Given the description of an element on the screen output the (x, y) to click on. 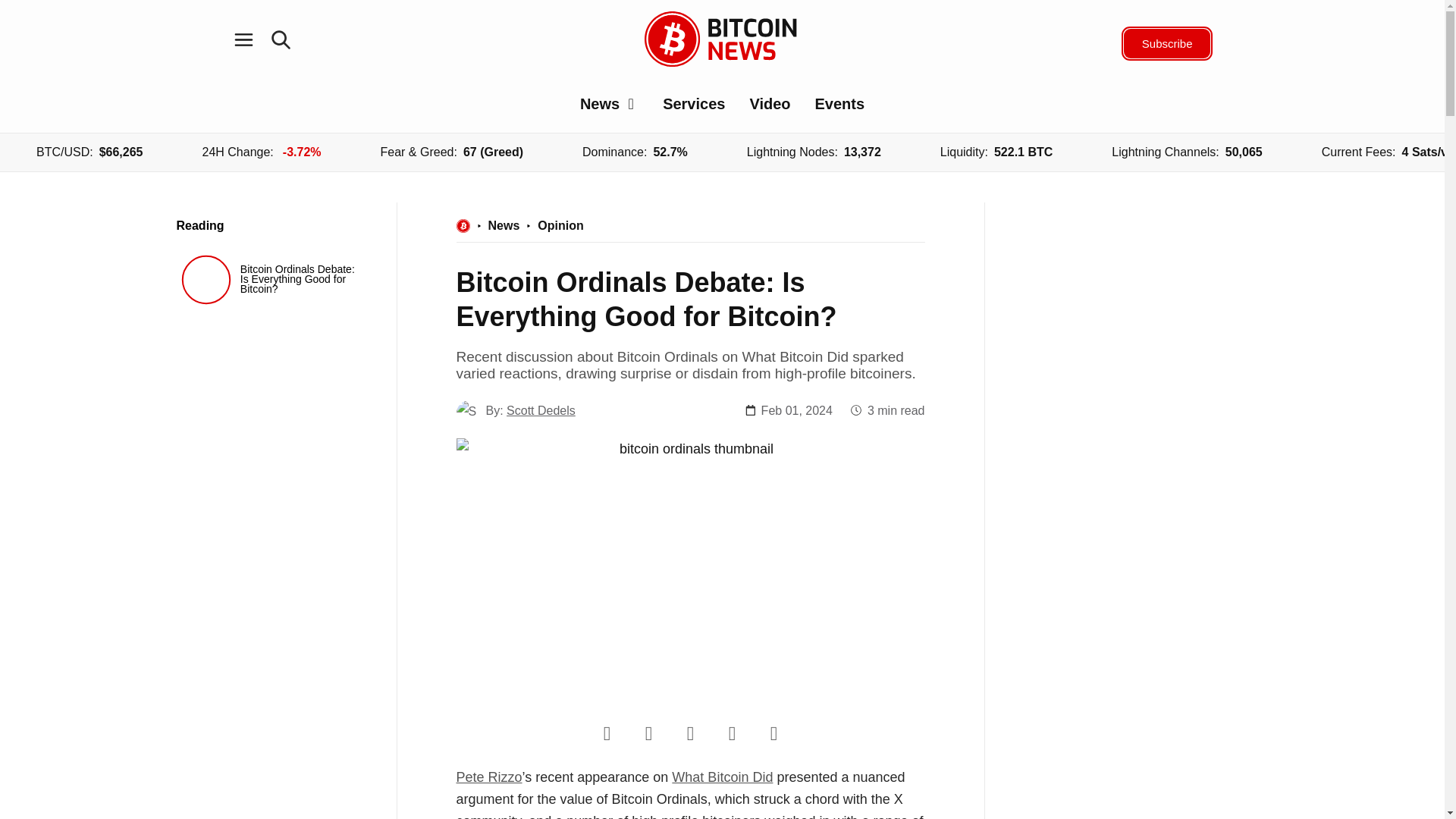
Subscribe (1167, 43)
